Given the description of an element on the screen output the (x, y) to click on. 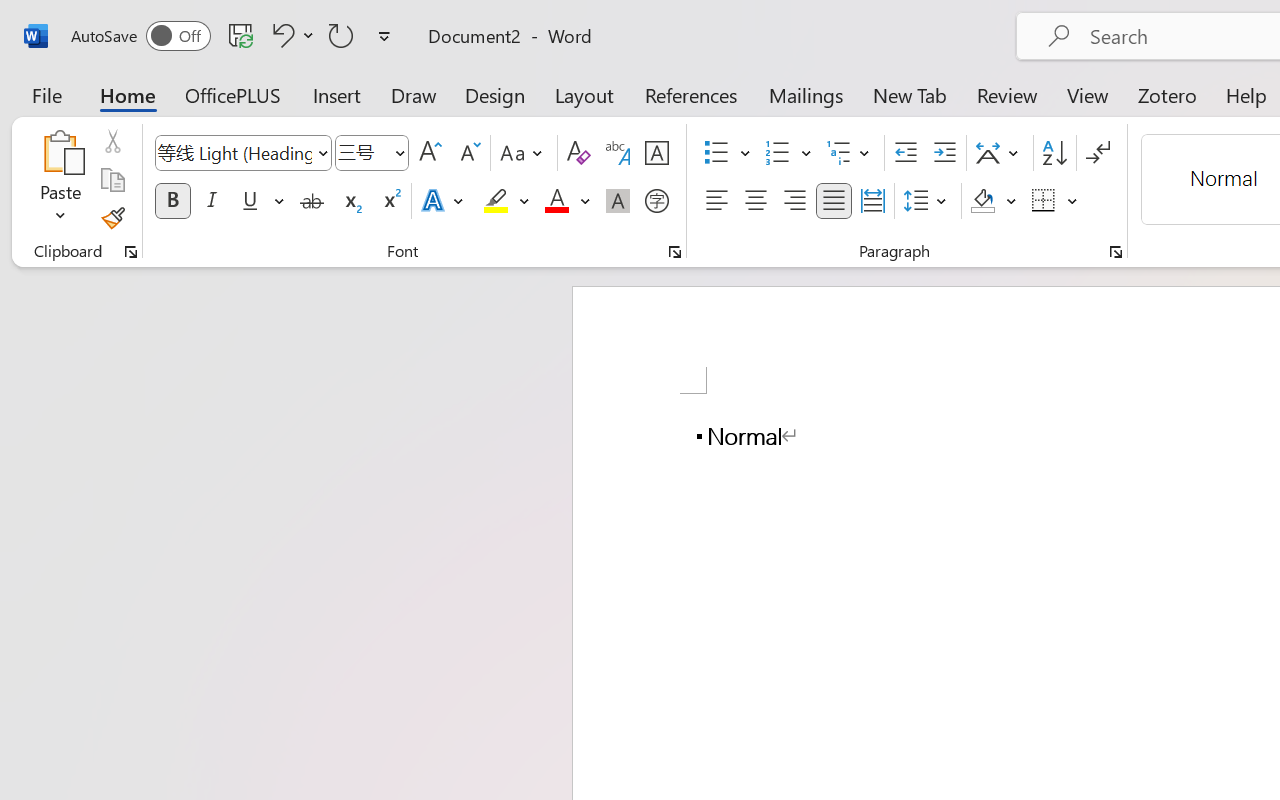
Change Case (524, 153)
Text Highlight Color Yellow (495, 201)
Zotero (1166, 94)
Mailings (806, 94)
Paste (60, 179)
Show/Hide Editing Marks (1098, 153)
OfficePLUS (233, 94)
Center (756, 201)
Font (234, 152)
Borders (1044, 201)
Bullets (716, 153)
Shading (993, 201)
Draw (413, 94)
Clear Formatting (578, 153)
Phonetic Guide... (618, 153)
